Given the description of an element on the screen output the (x, y) to click on. 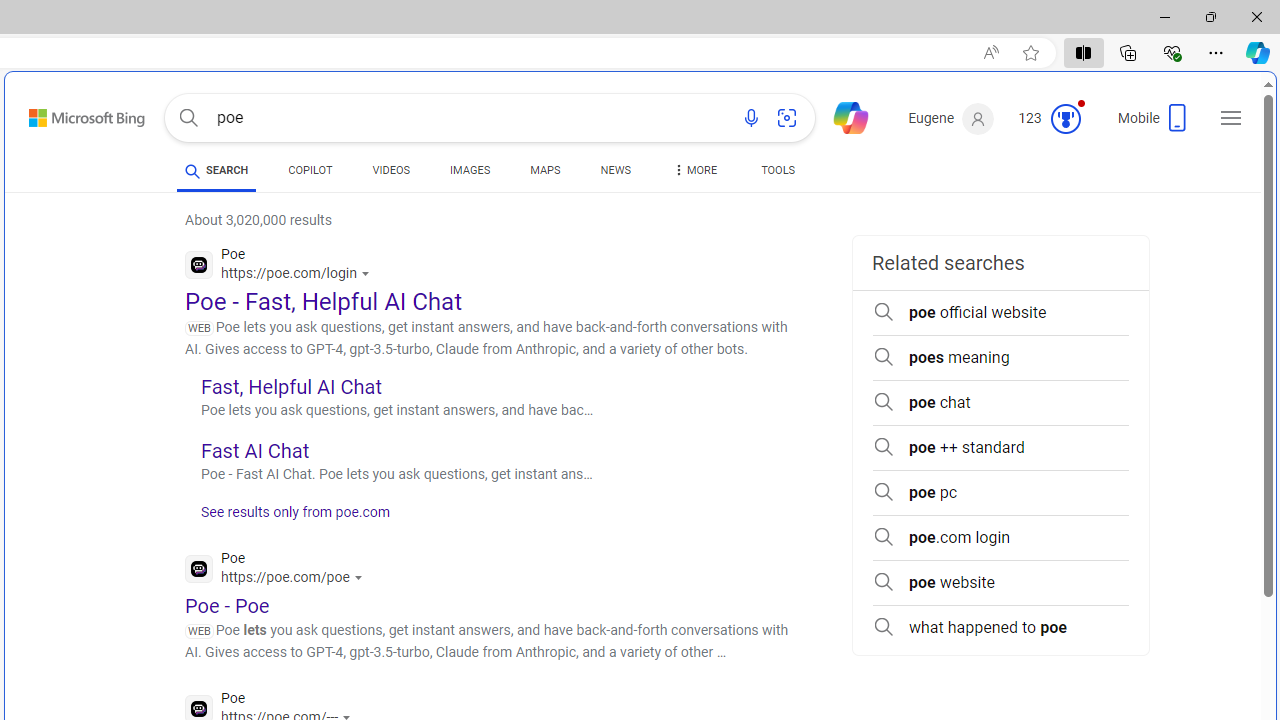
Mobile (1154, 124)
See results only from poe.com (287, 517)
TOOLS (777, 173)
Eugene (950, 119)
Class: medal-circled (1065, 118)
MORE (693, 173)
MAPS (545, 173)
IMAGES (470, 170)
COPILOT (310, 173)
Chat (842, 116)
poe ++ standard (1000, 448)
MAPS (545, 170)
